Given the description of an element on the screen output the (x, y) to click on. 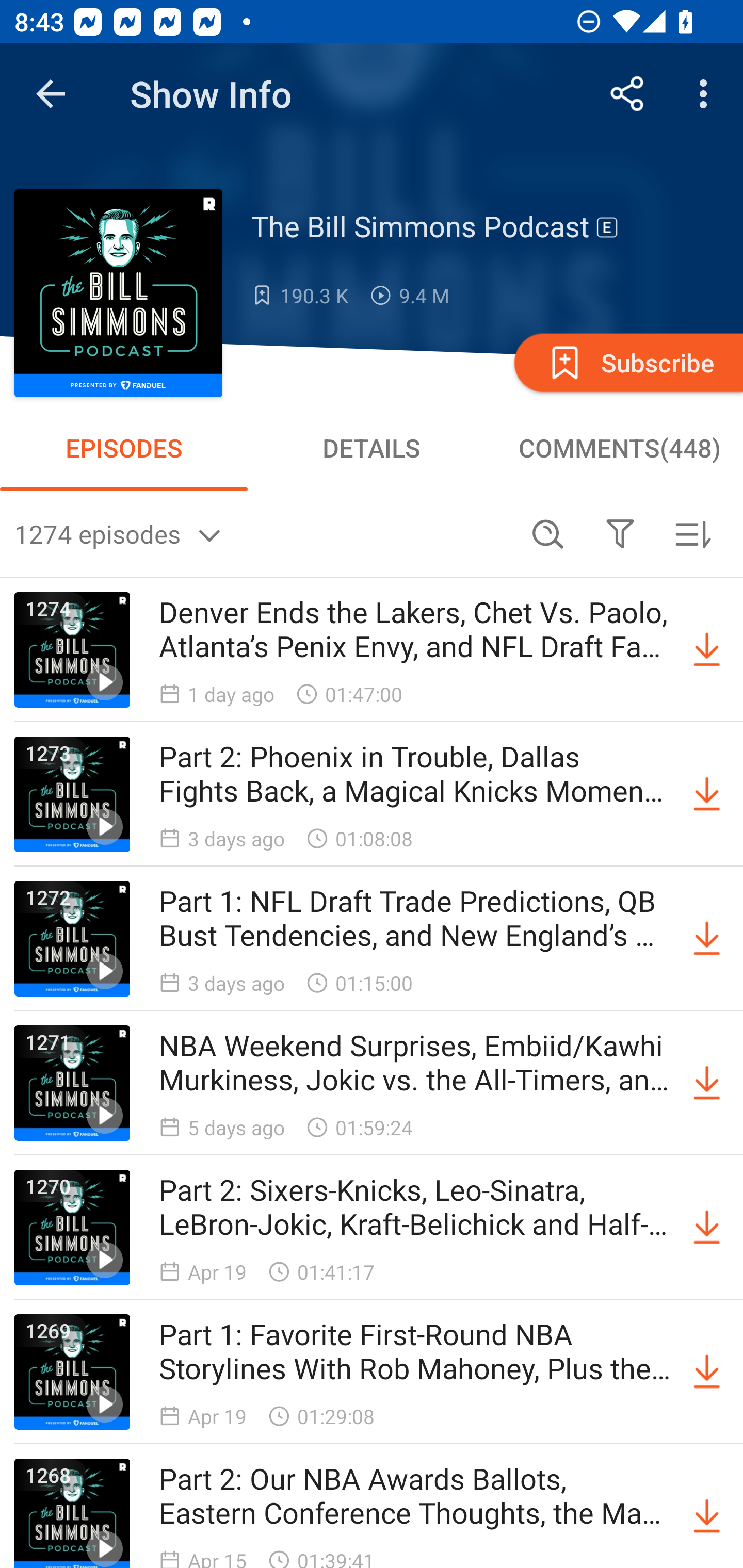
Navigate up (50, 93)
Share (626, 93)
More options (706, 93)
Subscribe (627, 361)
EPISODES (123, 447)
DETAILS (371, 447)
COMMENTS(448) (619, 447)
1274 episodes  (262, 533)
 Search (547, 533)
 (619, 533)
 Sorted by newest first (692, 533)
Download (706, 649)
Download (706, 793)
Download (706, 939)
Download (706, 1083)
Download (706, 1227)
Download (706, 1371)
Download (706, 1513)
